Given the description of an element on the screen output the (x, y) to click on. 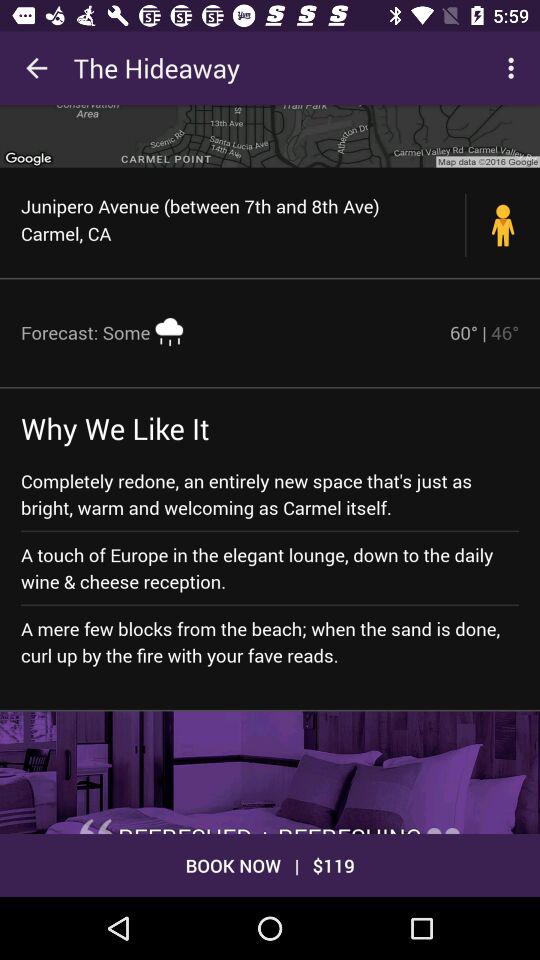
open the item above the completely redone an (115, 428)
